Given the description of an element on the screen output the (x, y) to click on. 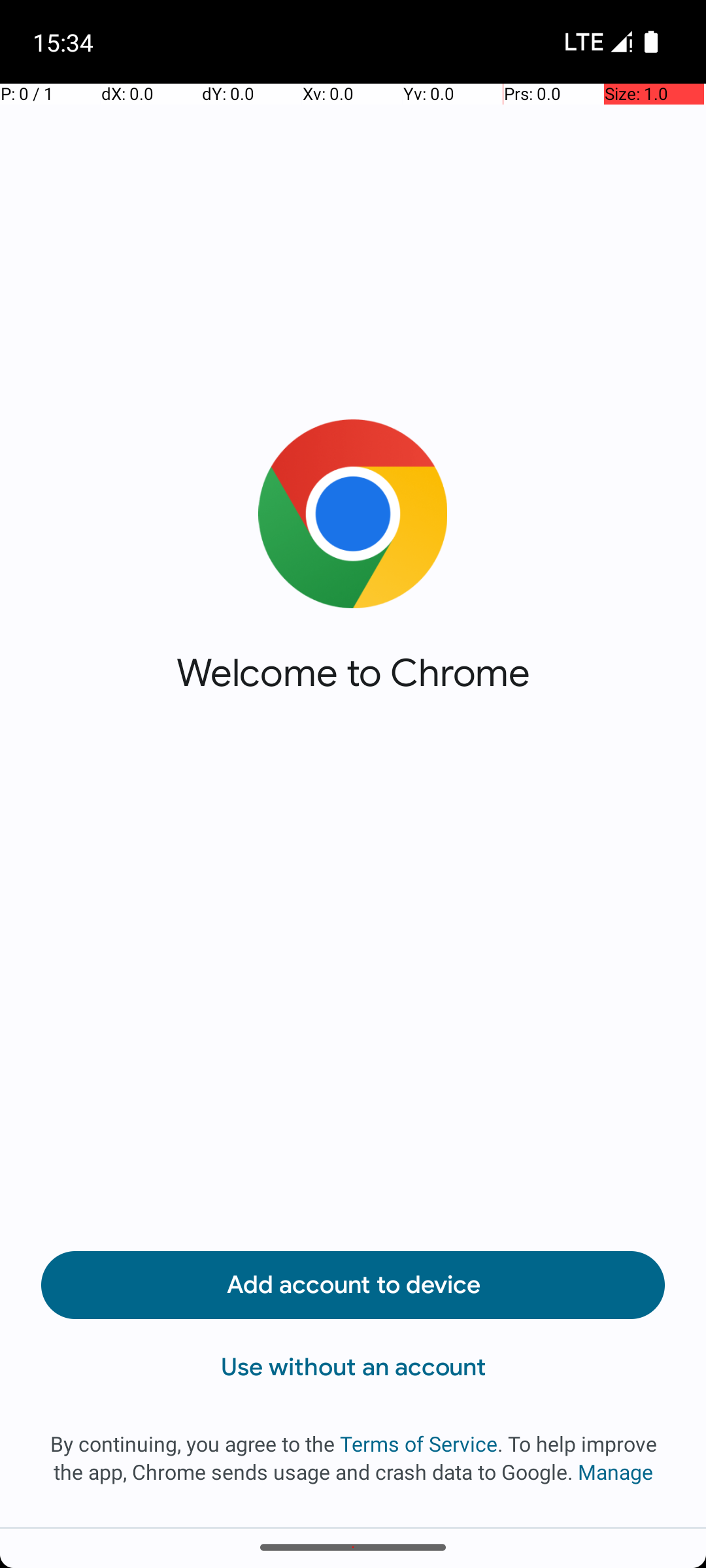
By continuing, you agree to the Terms of Service. To help improve the app, Chrome sends usage and crash data to Google. Manage Element type: android.widget.TextView (352, 1457)
Welcome to Chrome Element type: android.widget.TextView (353, 673)
Add account to device Element type: android.widget.Button (352, 1284)
Use without an account Element type: android.widget.Button (352, 1367)
